Given the description of an element on the screen output the (x, y) to click on. 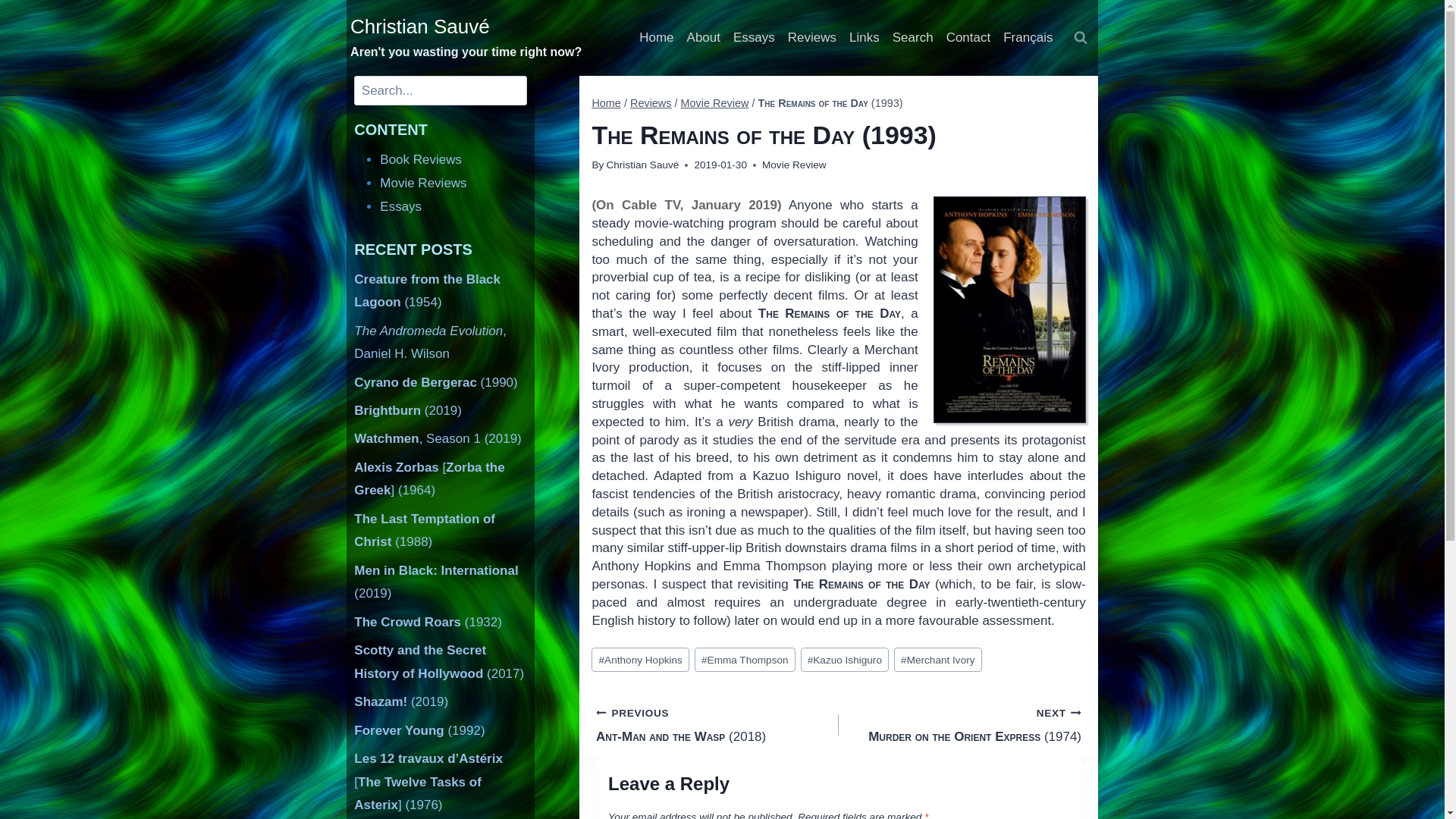
Search (912, 38)
Movie Review (794, 164)
Book Reviews (420, 159)
Reviews (811, 38)
Kazuo Ishiguro (844, 659)
Links (864, 38)
Home (656, 38)
Essays (753, 38)
Home (606, 102)
The Andromeda Evolution, Daniel H. Wilson (429, 342)
